Given the description of an element on the screen output the (x, y) to click on. 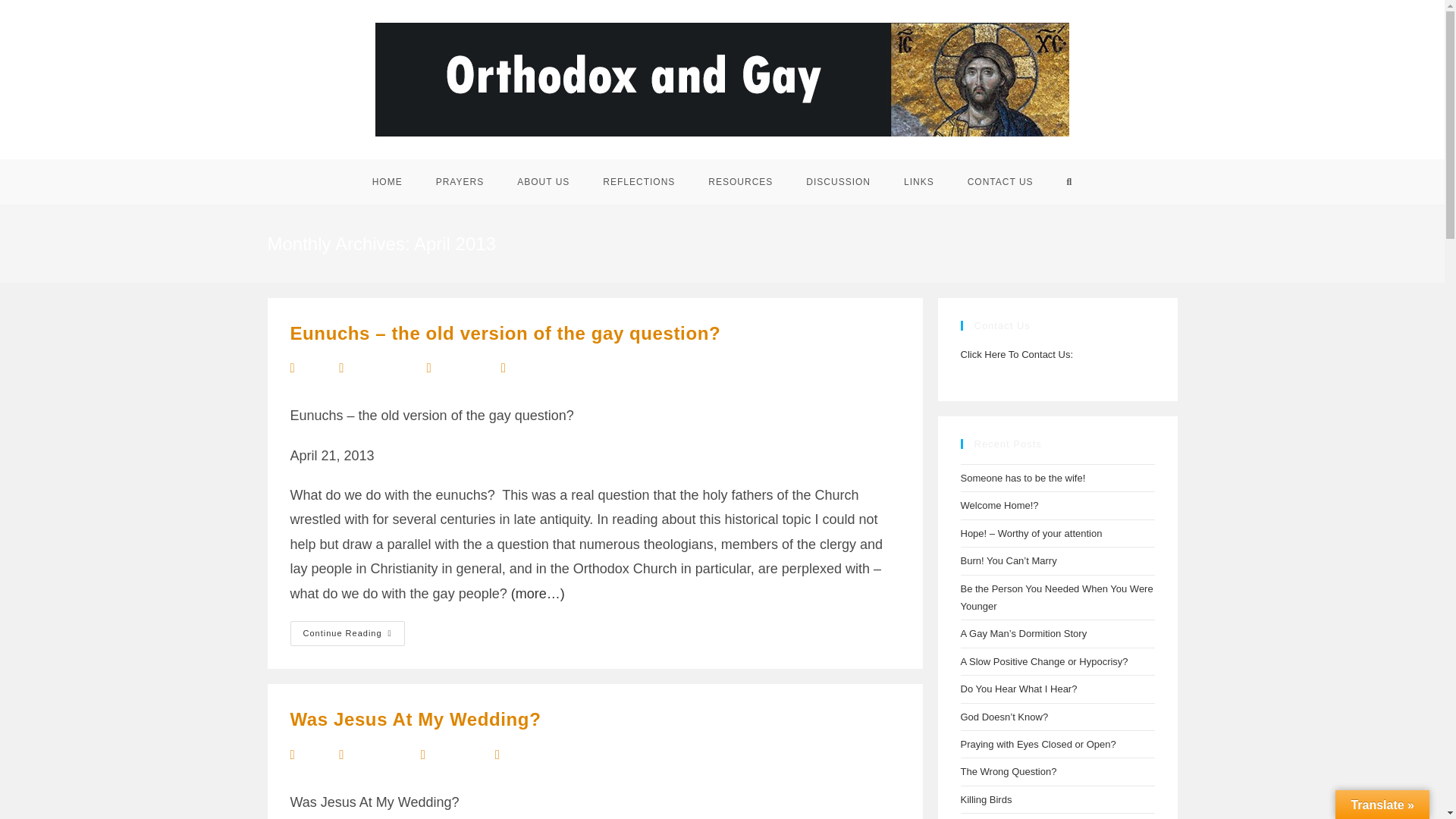
Someone has to be the wife! (1021, 478)
RESOURCES (740, 181)
Click Here To Contact Us: (1016, 354)
Be the Person You Needed When You Were Younger (1056, 597)
ABOUT US (543, 181)
CONTACT US (999, 181)
Posts by andre (312, 755)
Posts by andre (312, 368)
Reflections (455, 755)
Was Jesus At My Wedding? (414, 719)
